Given the description of an element on the screen output the (x, y) to click on. 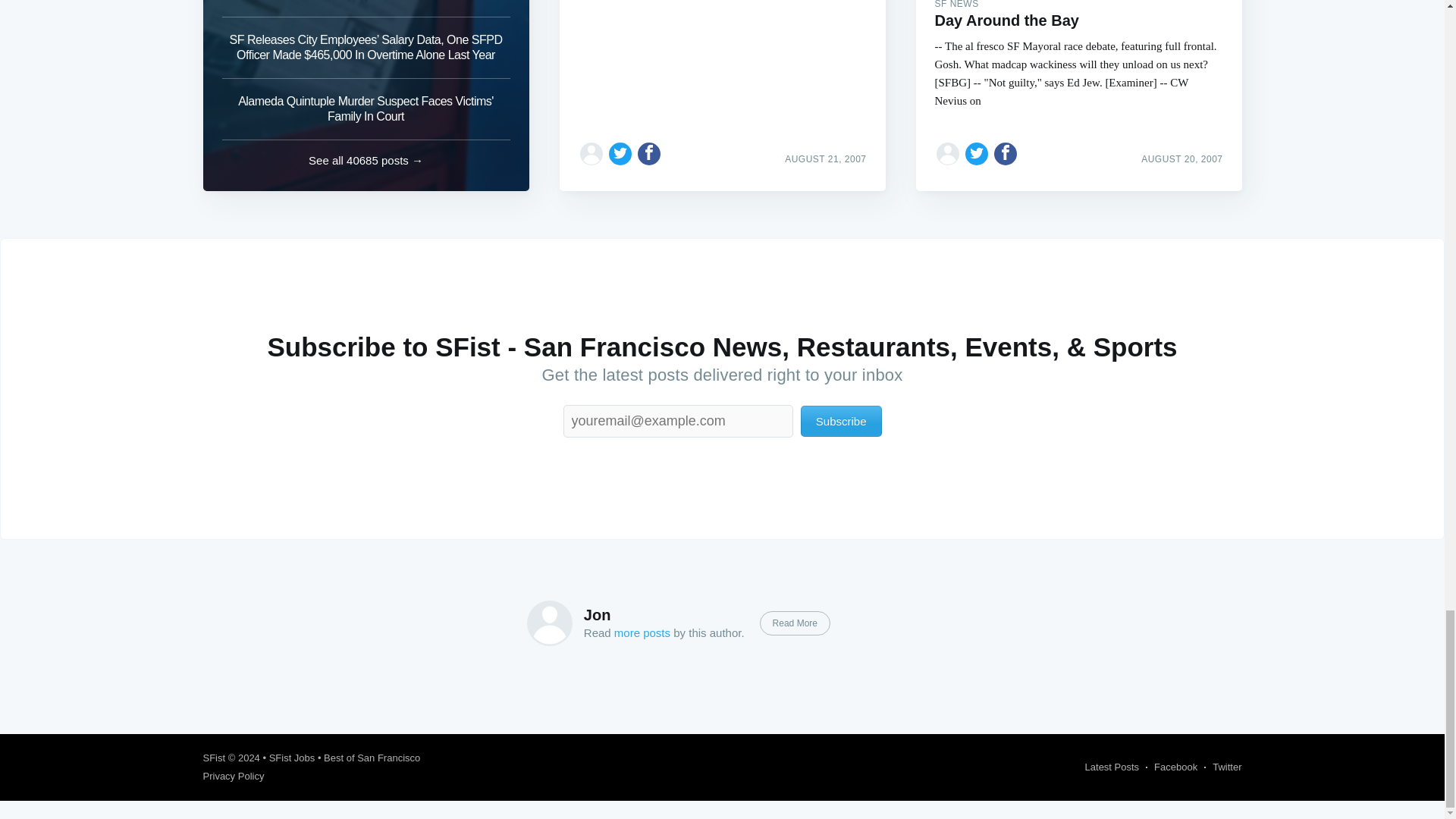
more posts (641, 632)
Share on Facebook (1004, 153)
Share on Twitter (976, 153)
Share on Twitter (620, 153)
Subscribe (841, 420)
Jon (597, 614)
Share on Facebook (649, 153)
